Given the description of an element on the screen output the (x, y) to click on. 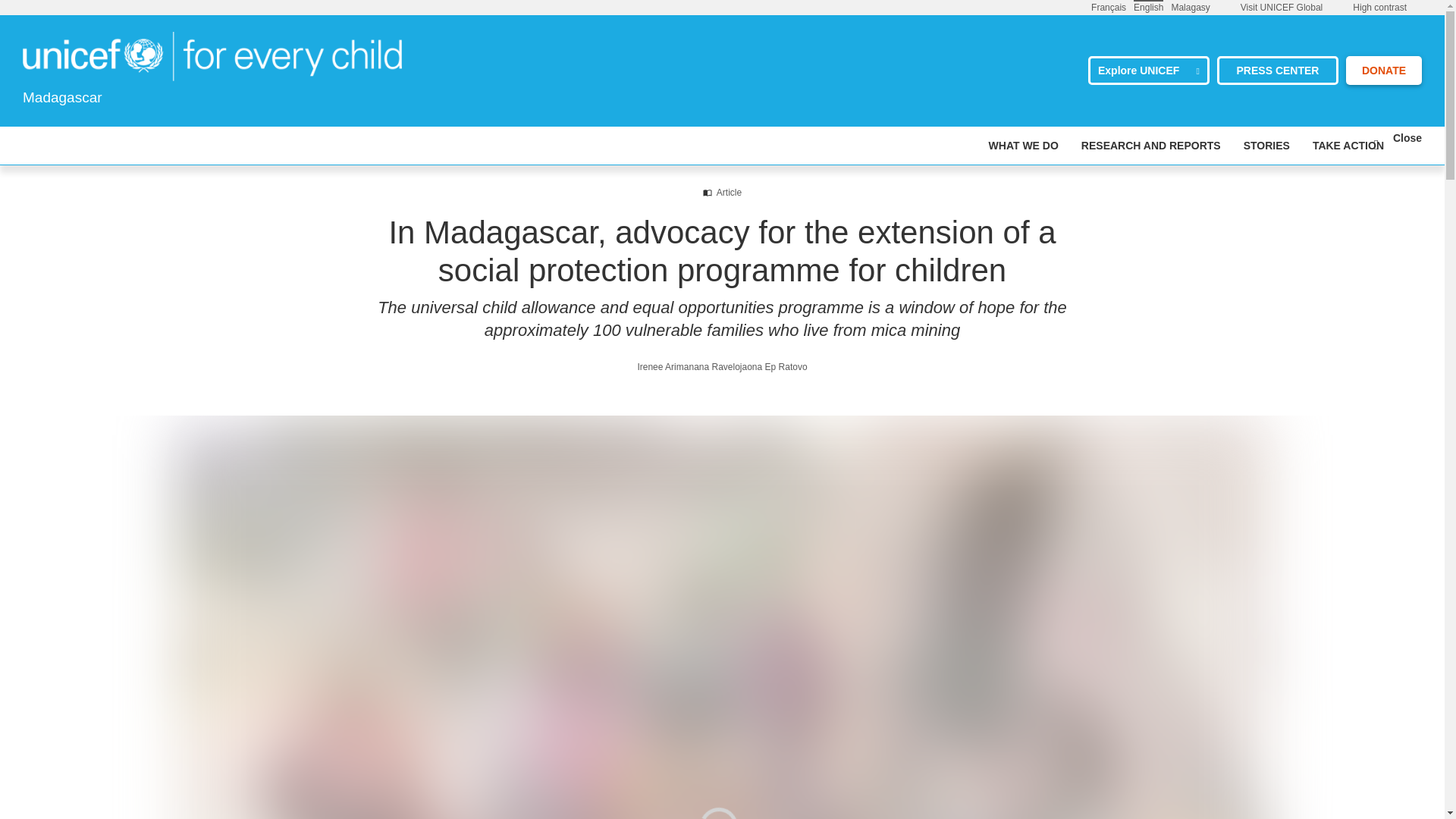
The human stories behind data (1266, 145)
Explore UNICEF (1148, 70)
UNICEF (212, 54)
Visit UNICEF Global (1281, 7)
STORIES (1266, 145)
PRESS CENTER (1277, 70)
TAKE ACTION (1348, 145)
Malagasy (1189, 6)
DONATE (1383, 70)
WHAT WE DO (1023, 145)
Madagascar (212, 56)
RESEARCH AND REPORTS (1151, 145)
Explore UNICEF (1148, 70)
High contrast (1379, 7)
